Given the description of an element on the screen output the (x, y) to click on. 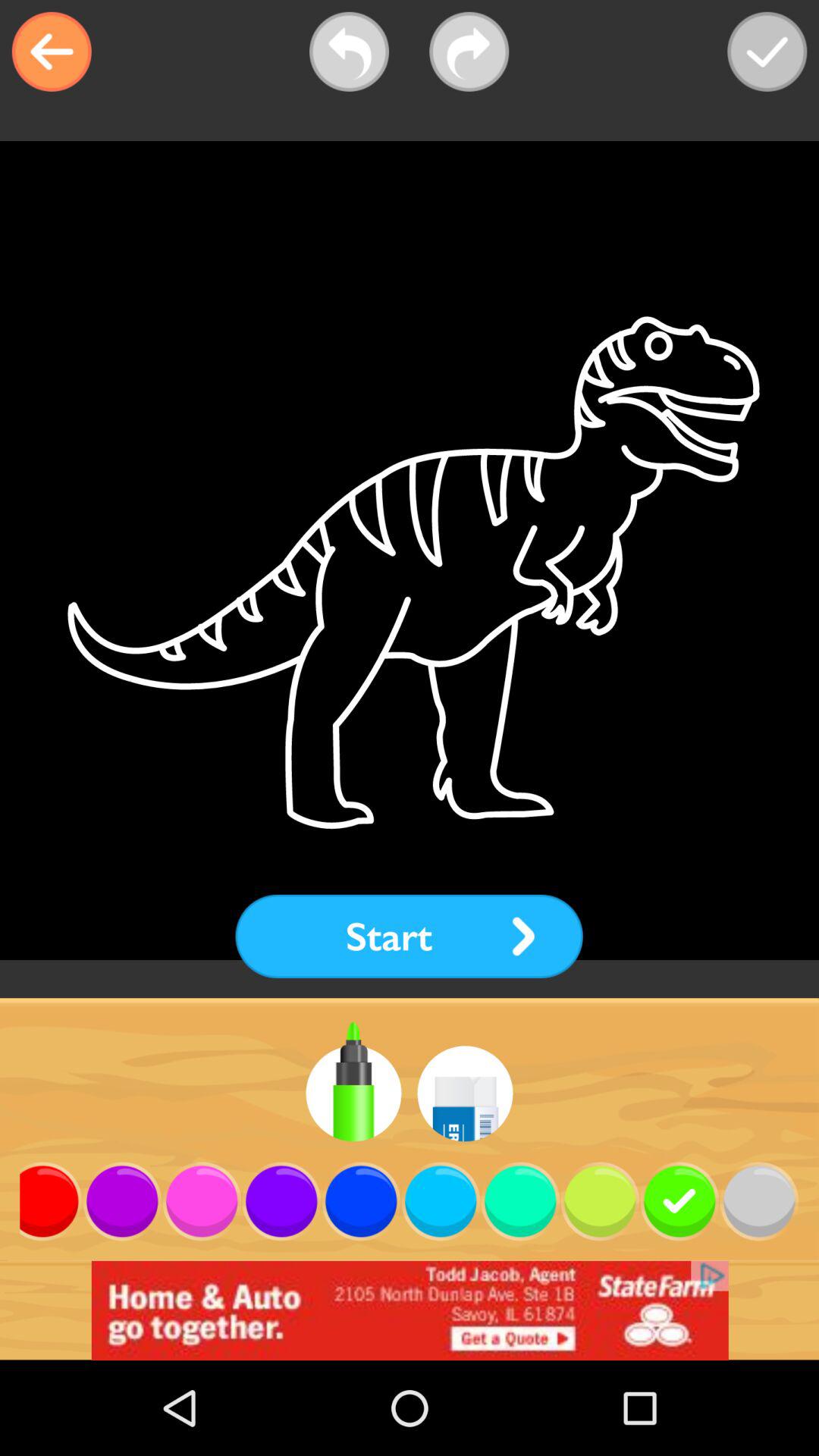
go previous (349, 51)
